Given the description of an element on the screen output the (x, y) to click on. 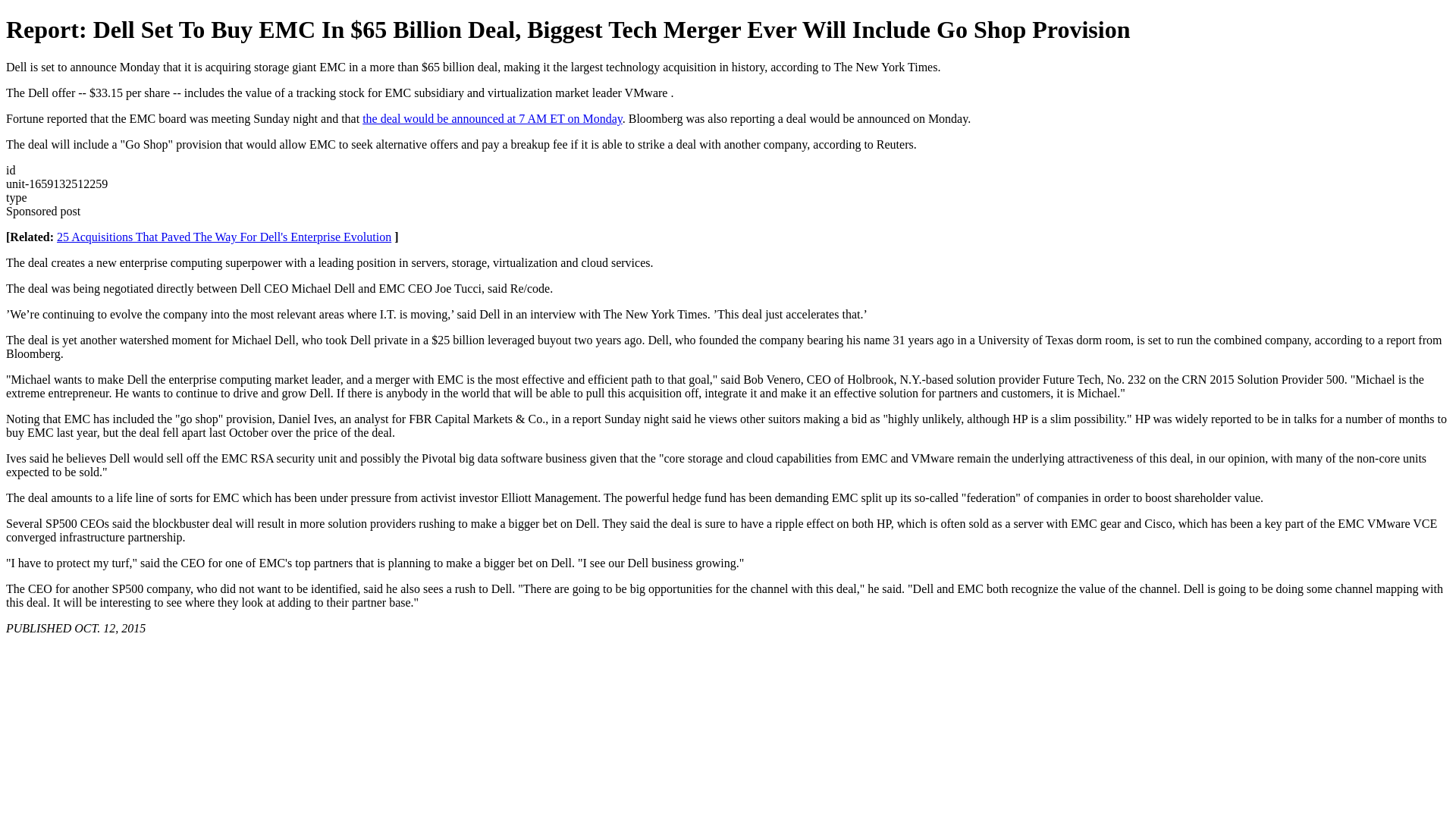
the deal would be announced at 7 AM ET on Monday (492, 118)
